Given the description of an element on the screen output the (x, y) to click on. 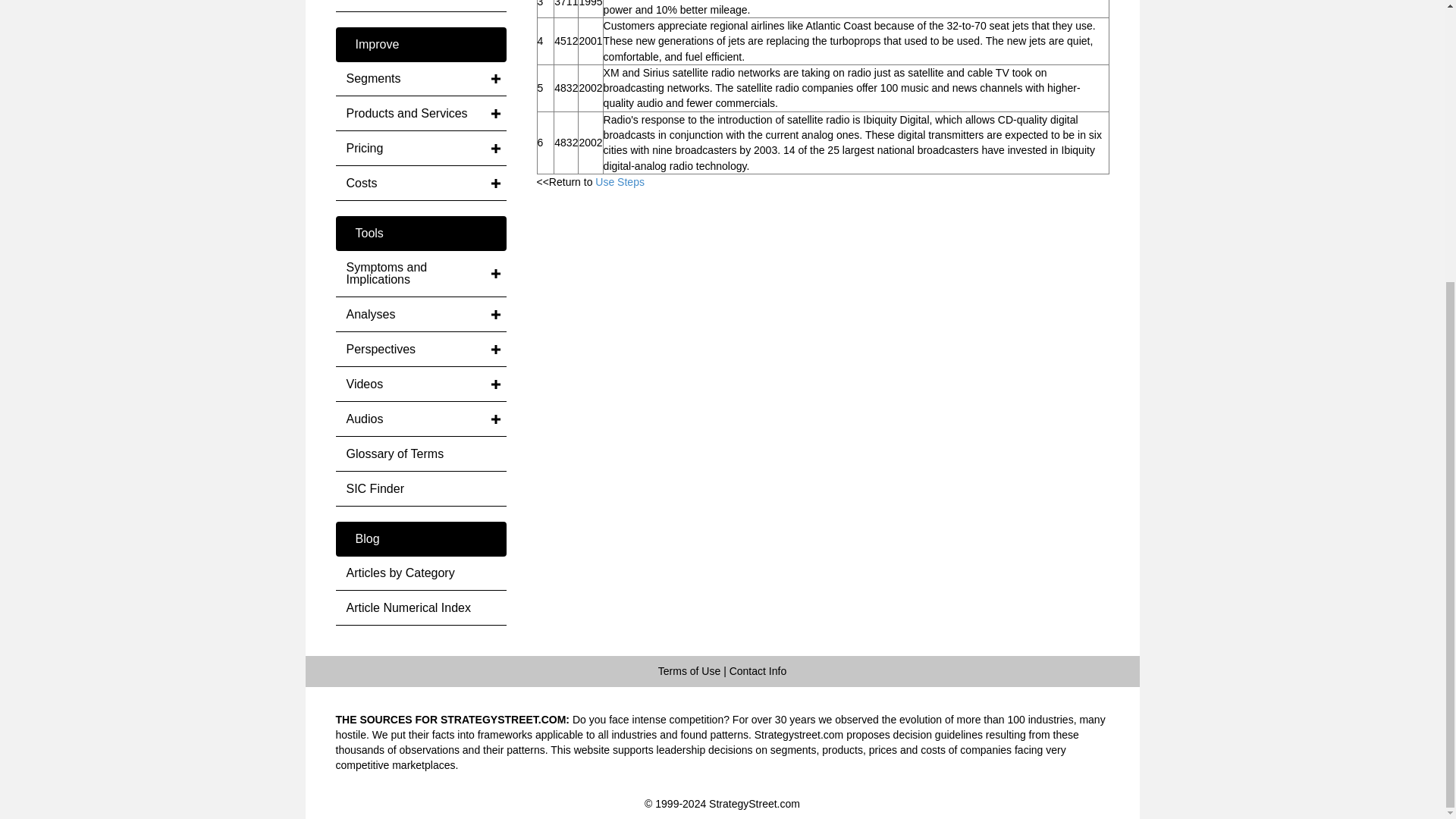
Segments (419, 78)
Costs (419, 5)
Improve (419, 44)
